Given the description of an element on the screen output the (x, y) to click on. 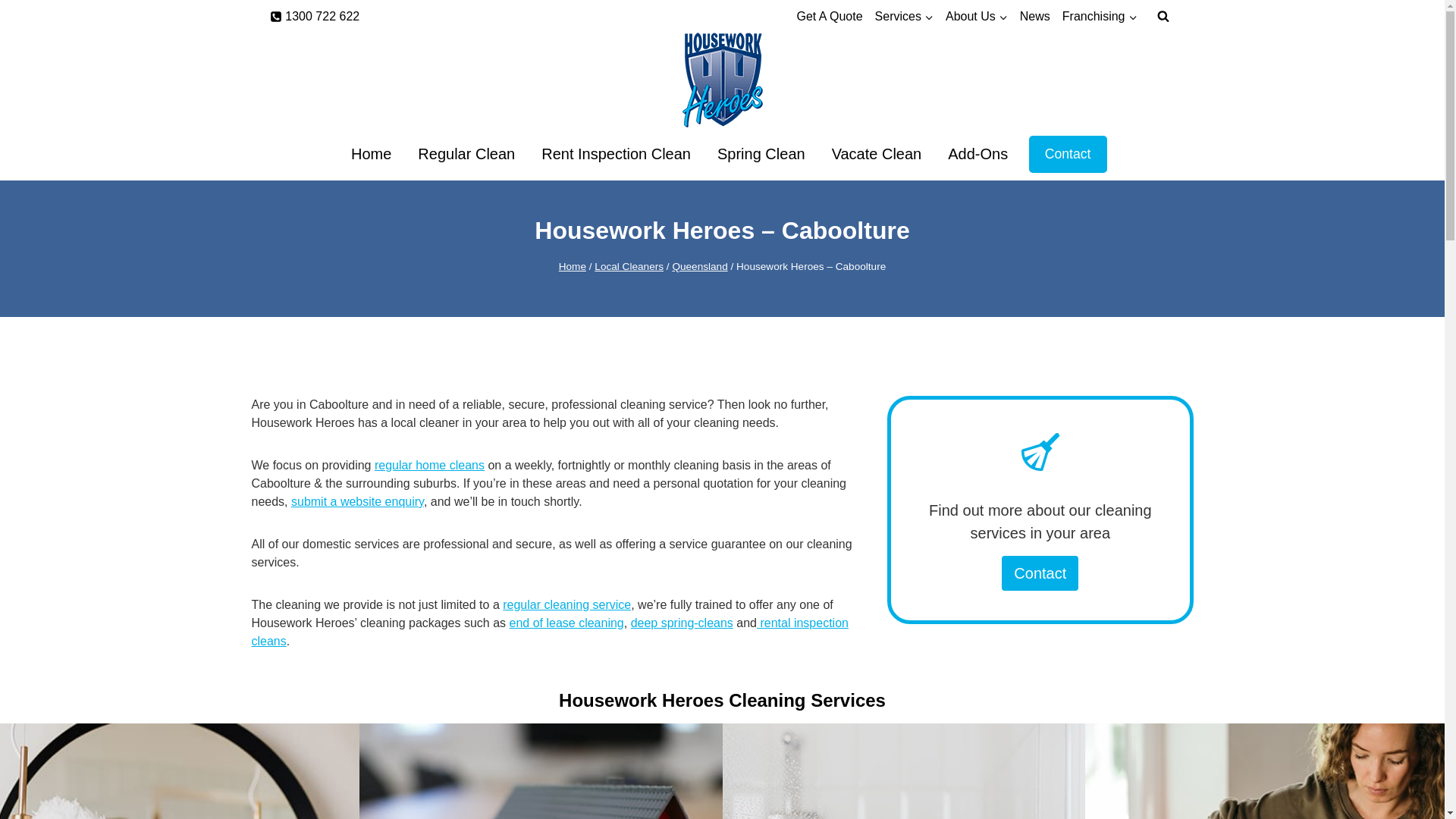
Rent Inspection Clean Element type: text (616, 153)
About Us Element type: text (976, 16)
Vacate Clean Element type: text (876, 153)
submit a website enquiry Element type: text (357, 501)
Services Element type: text (904, 16)
Get A Quote Element type: text (829, 16)
end of lease cleaning Element type: text (566, 622)
regular home cleans Element type: text (429, 464)
Home Element type: text (370, 153)
 rental inspection cleans Element type: text (549, 631)
Queensland Element type: text (699, 266)
Local Cleaners Element type: text (628, 266)
Spring Clean Element type: text (760, 153)
deep spring-cleans Element type: text (681, 622)
regular cleaning service Element type: text (566, 604)
News Element type: text (1034, 16)
Regular Clean Element type: text (466, 153)
Add-Ons Element type: text (978, 153)
1300 722 622 Element type: text (314, 16)
Franchising Element type: text (1099, 16)
Home Element type: text (572, 266)
Contact Element type: text (1068, 153)
